Given the description of an element on the screen output the (x, y) to click on. 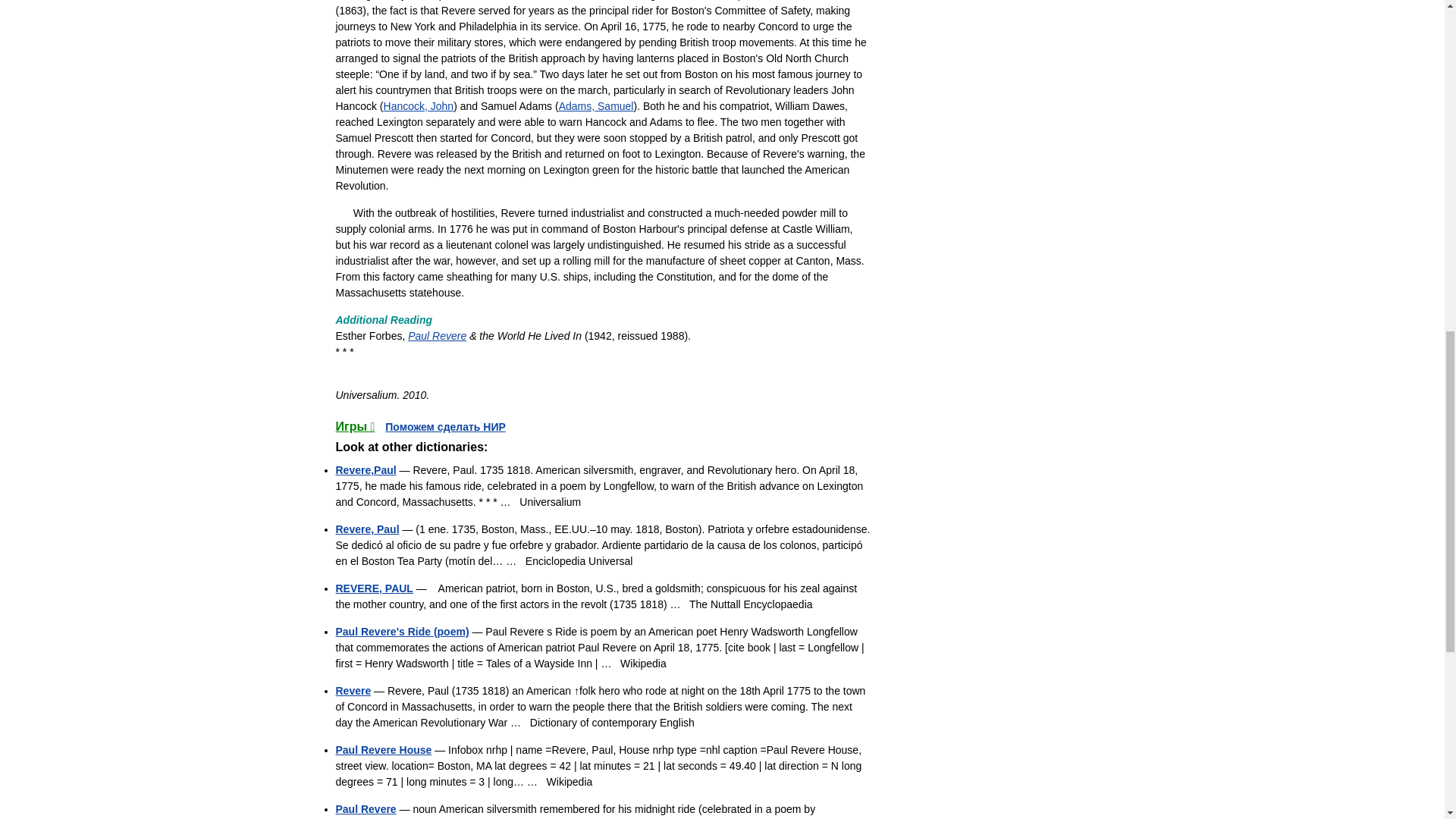
Adams, Samuel (596, 105)
Revere,Paul (365, 469)
Paul Revere (436, 336)
Hancock, John (419, 105)
